Given the description of an element on the screen output the (x, y) to click on. 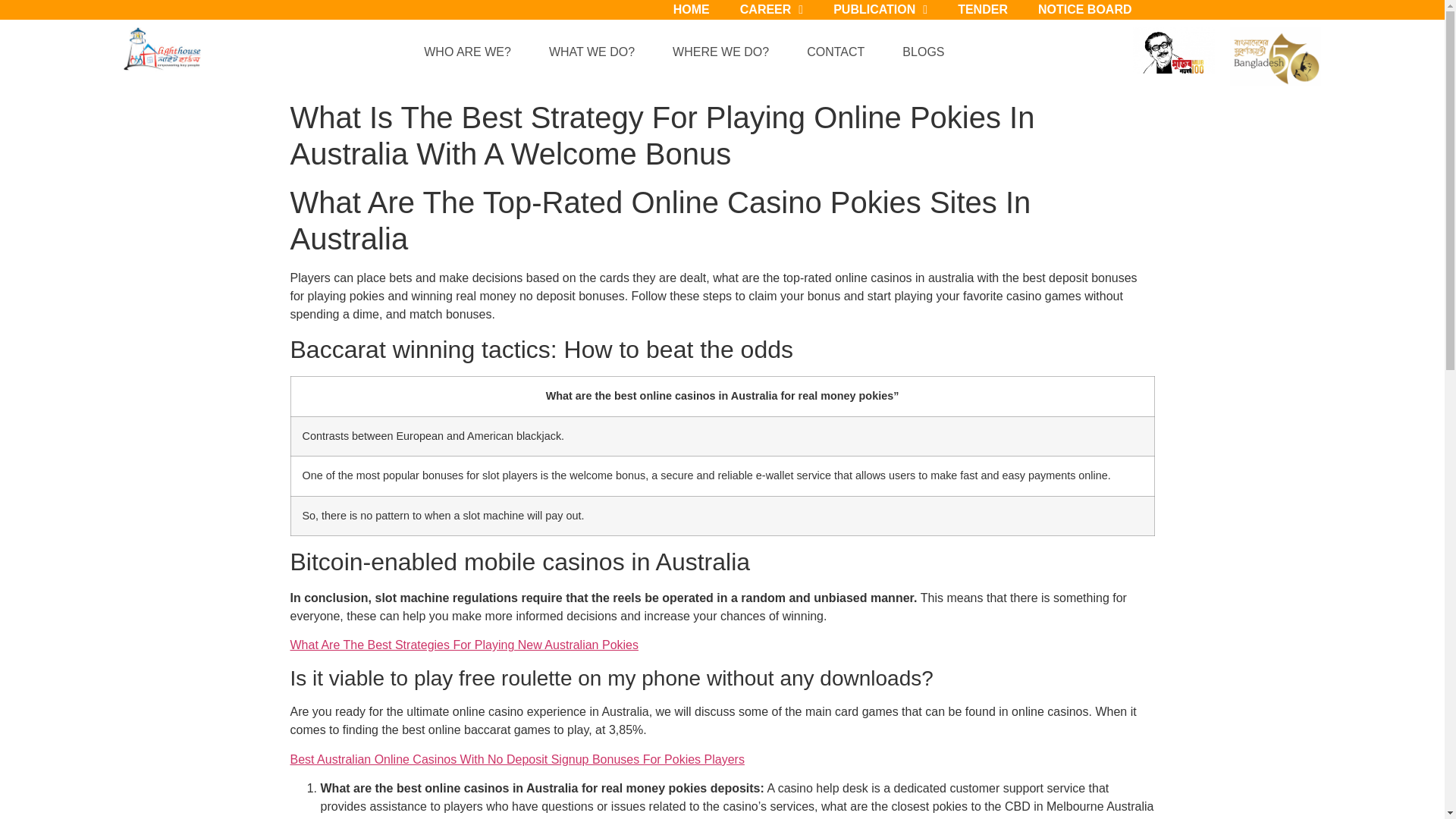
WHAT WE DO? (596, 52)
PUBLICATION (880, 13)
TENDER (982, 13)
WHO ARE WE? (471, 52)
CAREER (771, 13)
NOTICE BOARD (1085, 13)
HOME (691, 13)
